Given the description of an element on the screen output the (x, y) to click on. 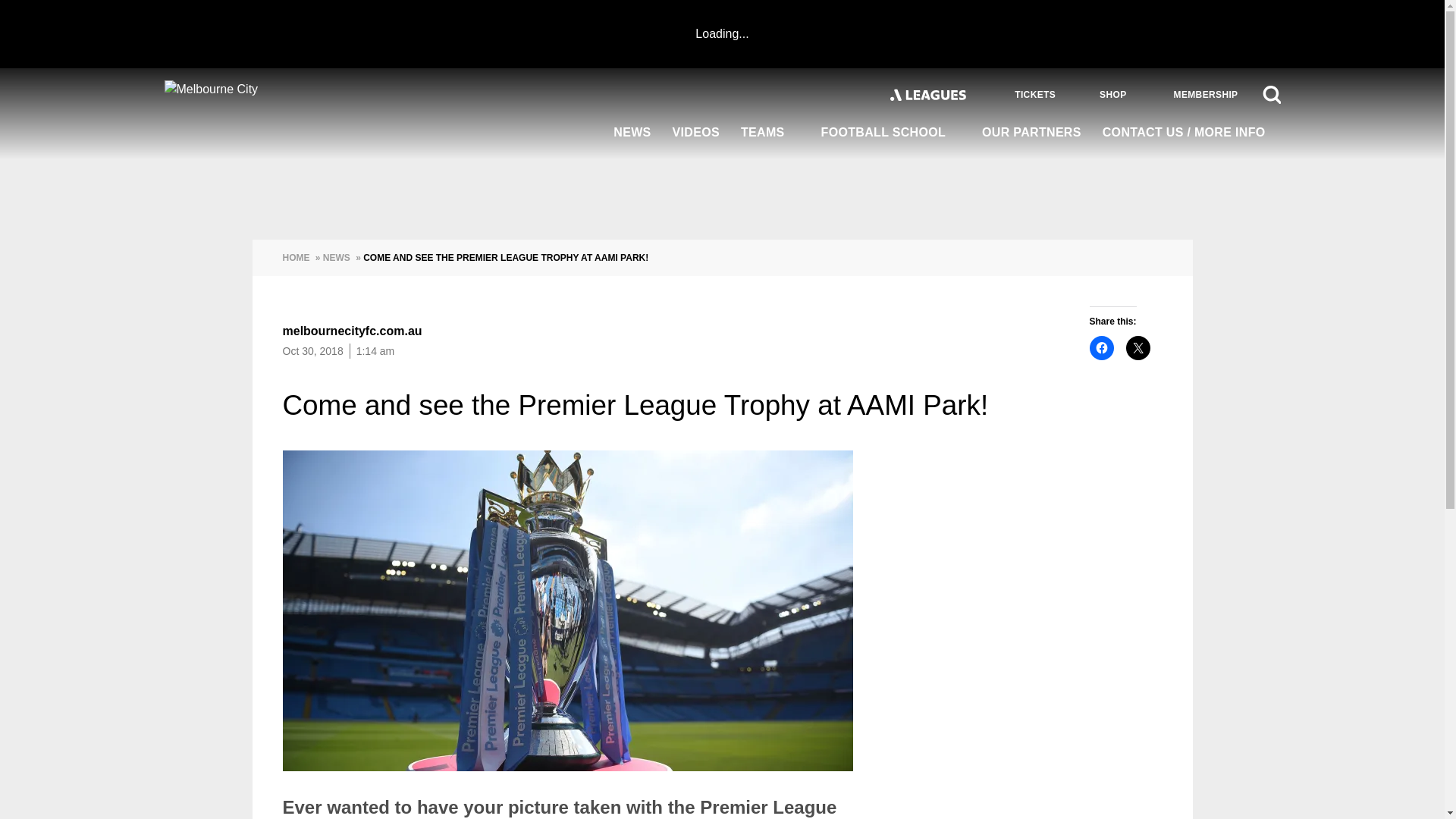
NEWS (631, 133)
VIDEOS (696, 133)
OUR PARTNERS (1031, 133)
TEAMS (770, 132)
Click to share on Facebook (1101, 347)
FOOTBALL SCHOOL (891, 132)
Click to share on X (1137, 347)
